Given the description of an element on the screen output the (x, y) to click on. 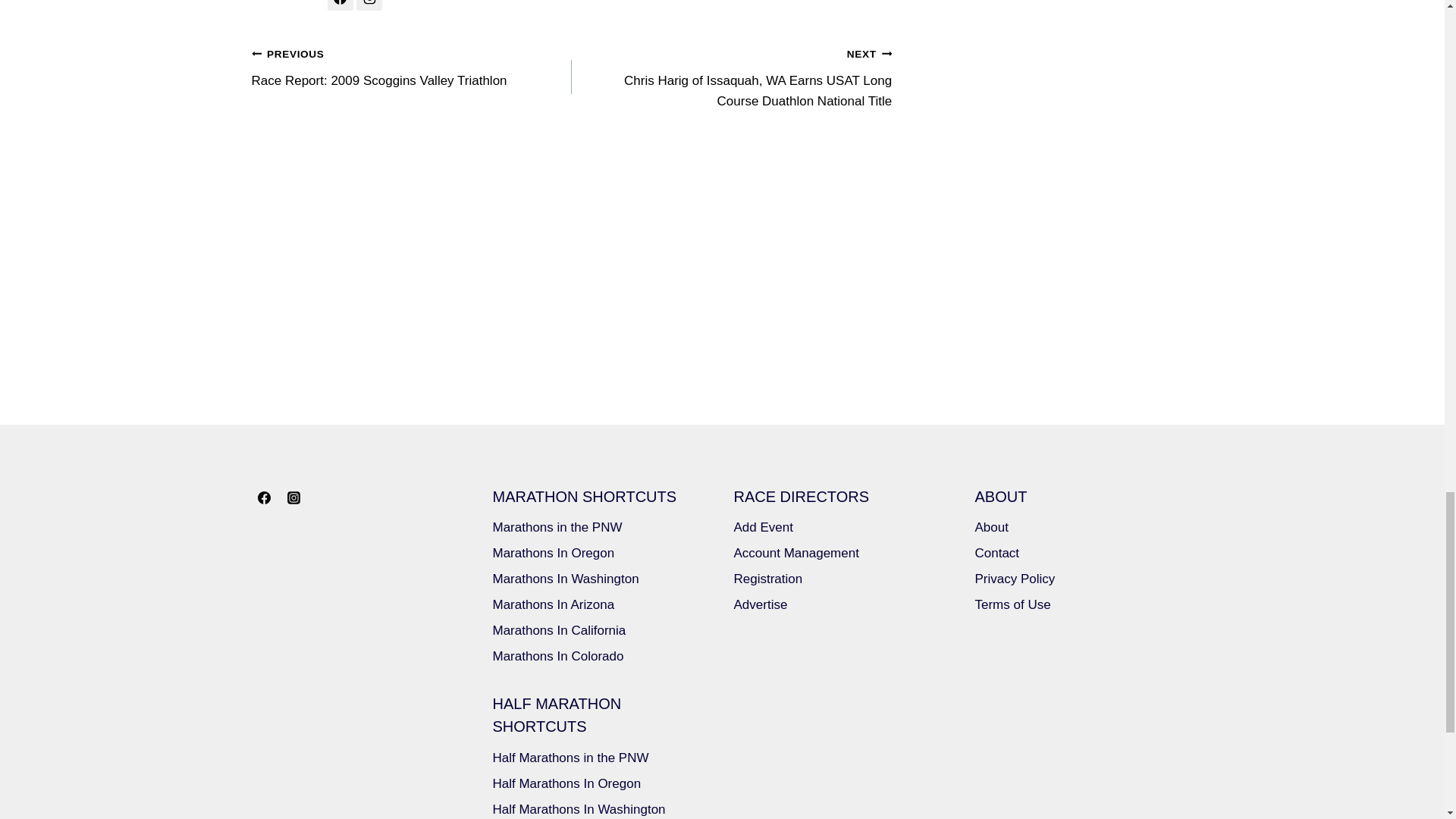
Follow Editor on Instagram (368, 5)
Follow Editor on Facebook (411, 66)
